Given the description of an element on the screen output the (x, y) to click on. 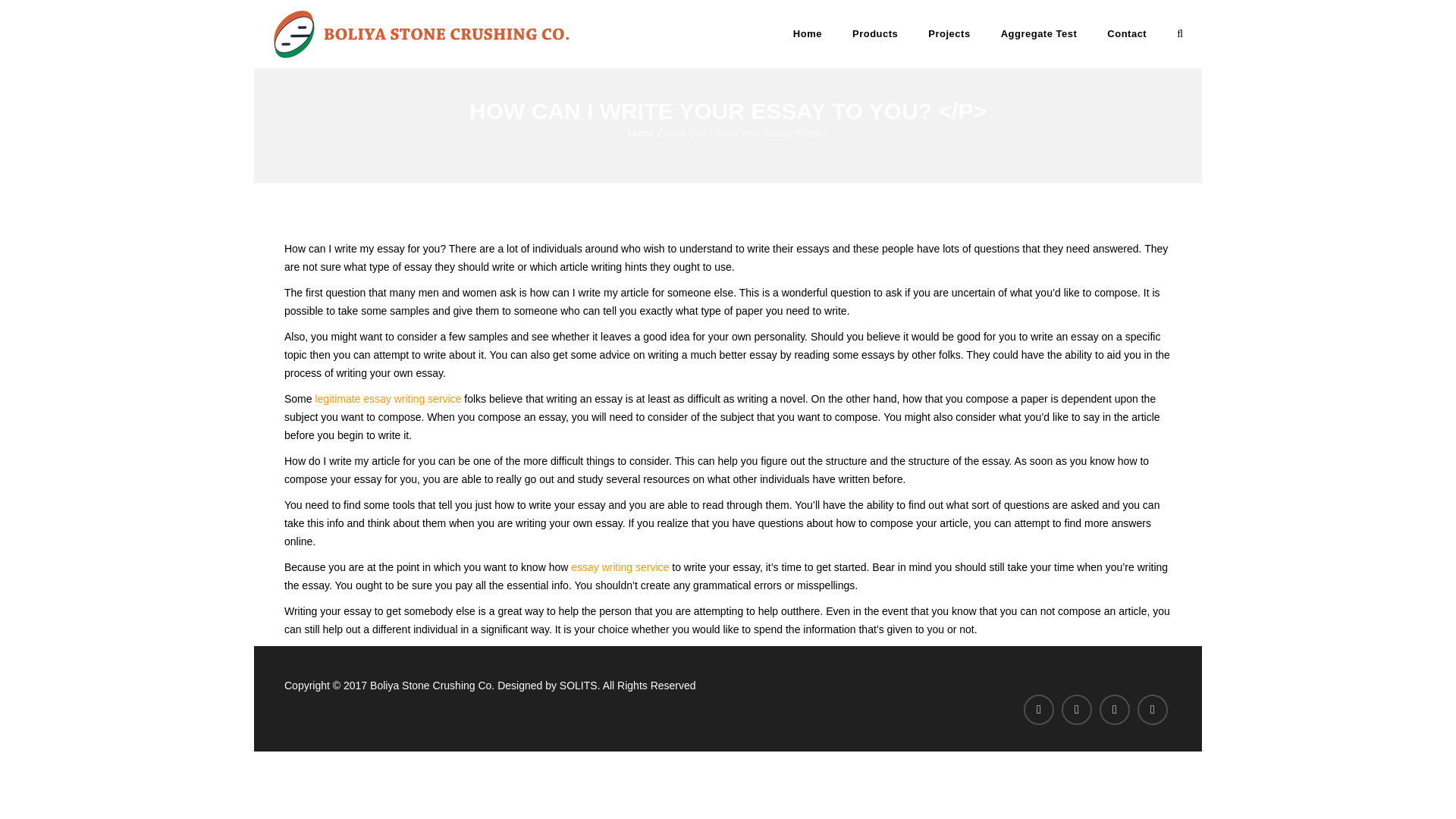
Boliya Stone Crushing Co. (421, 33)
Aggregate Test (1039, 33)
Products (874, 33)
Contact (1126, 33)
Pinterest (1114, 709)
essay writing service (619, 567)
Home (640, 132)
Facebook (1038, 709)
Boliya Stone Crushing Co. (421, 33)
Google-plus (1152, 709)
